Given the description of an element on the screen output the (x, y) to click on. 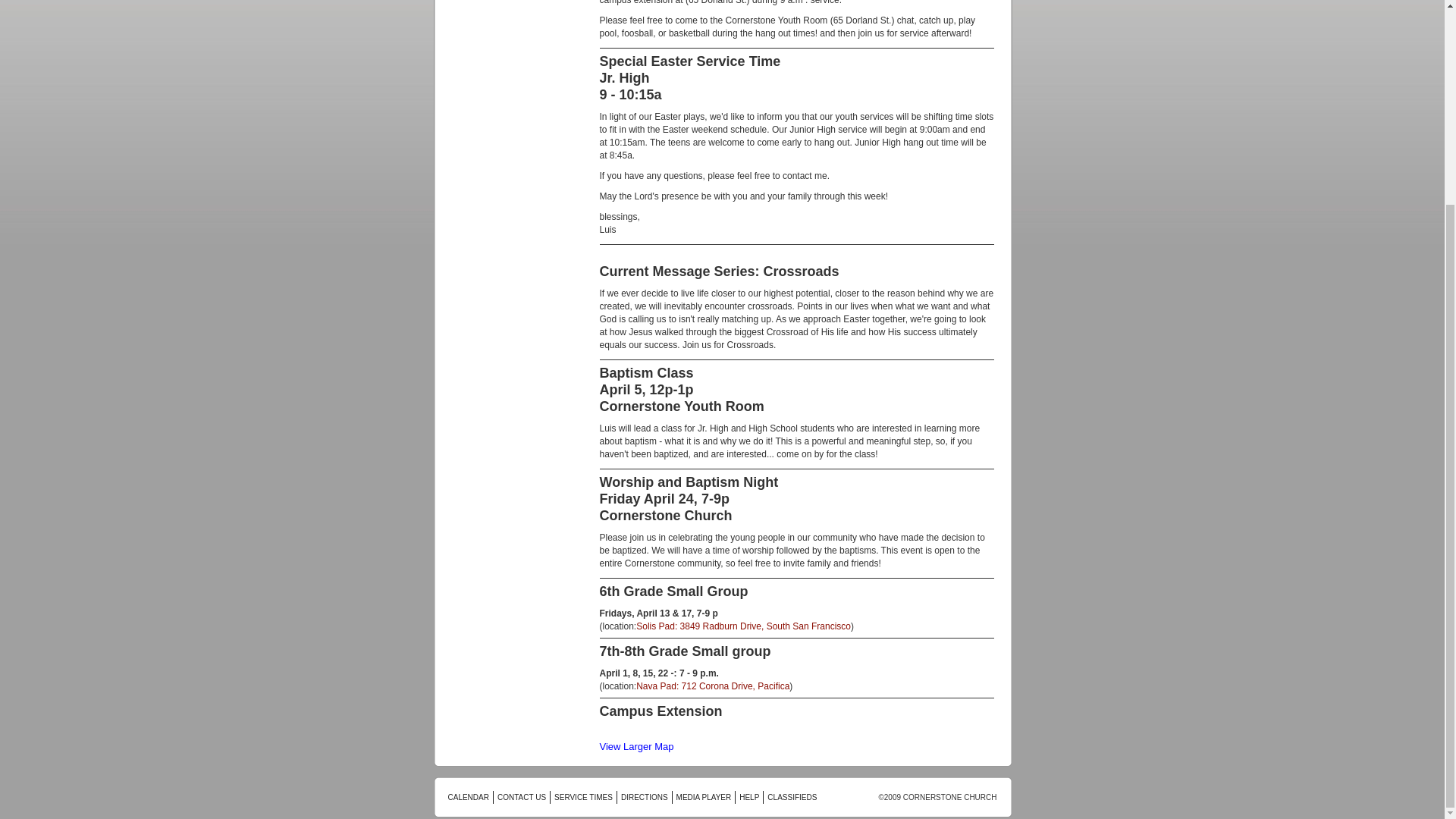
CLASSIFIEDS (791, 797)
View Larger Map (635, 746)
CALENDAR (466, 797)
Nava Pad: 712 Corona Drive, Pacifica (712, 685)
DIRECTIONS (644, 797)
Solis Pad: 3849 Radburn Drive, South San Francisco (743, 625)
HELP (748, 797)
MEDIA PLAYER (704, 797)
SERVICE TIMES (583, 797)
CONTACT US (521, 797)
